Given the description of an element on the screen output the (x, y) to click on. 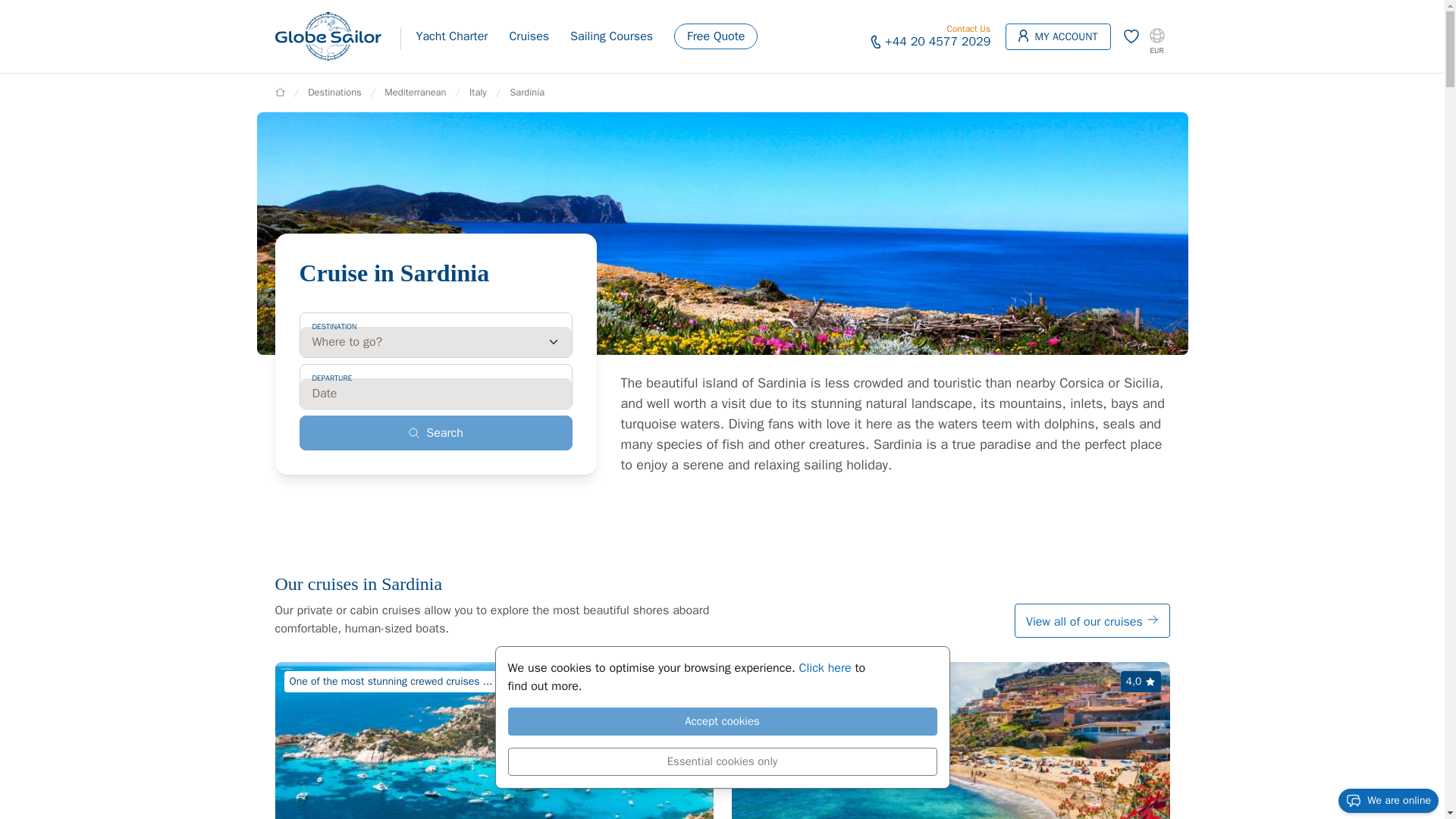
Yacht Charter (450, 36)
Sailing Courses (611, 36)
Cruises (528, 36)
